Given the description of an element on the screen output the (x, y) to click on. 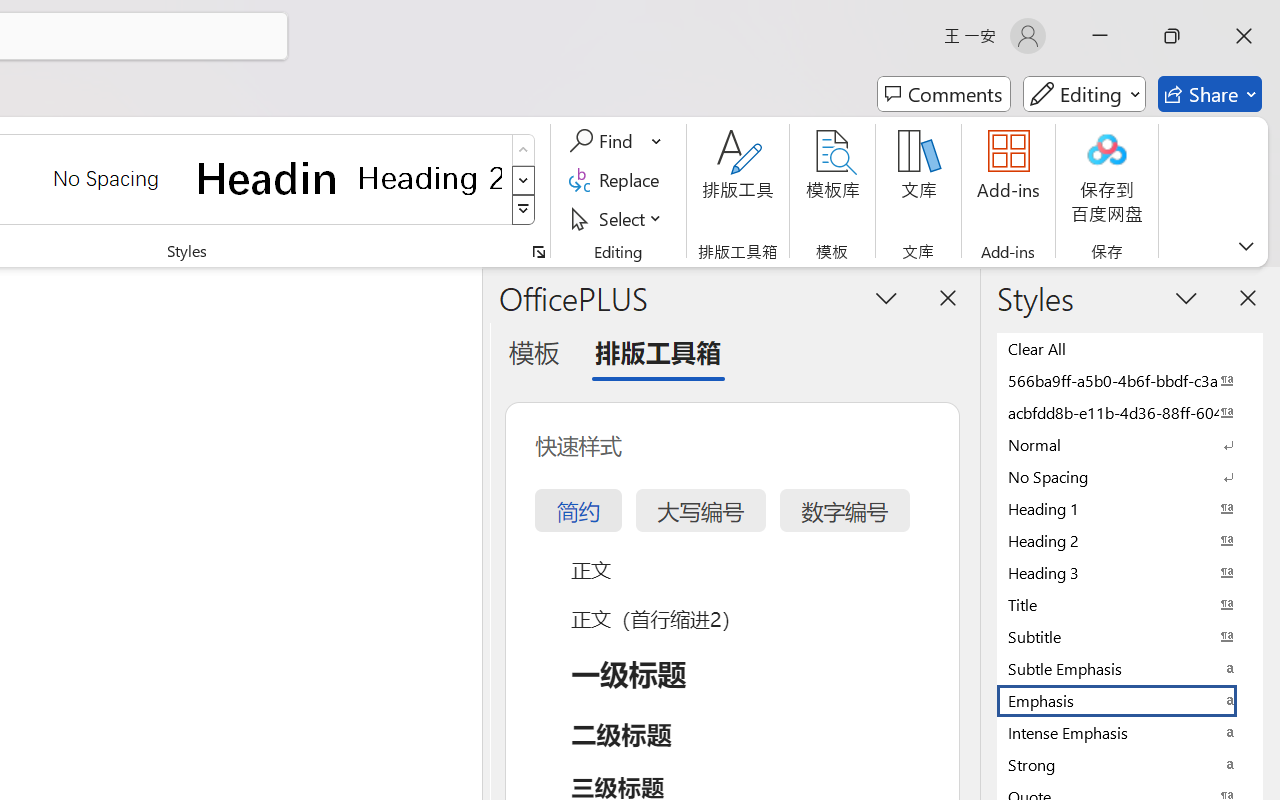
Strong (1130, 764)
Intense Emphasis (1130, 732)
Find (616, 141)
Subtitle (1130, 636)
Mode (1083, 94)
acbfdd8b-e11b-4d36-88ff-6049b138f862 (1130, 412)
Find (604, 141)
